Given the description of an element on the screen output the (x, y) to click on. 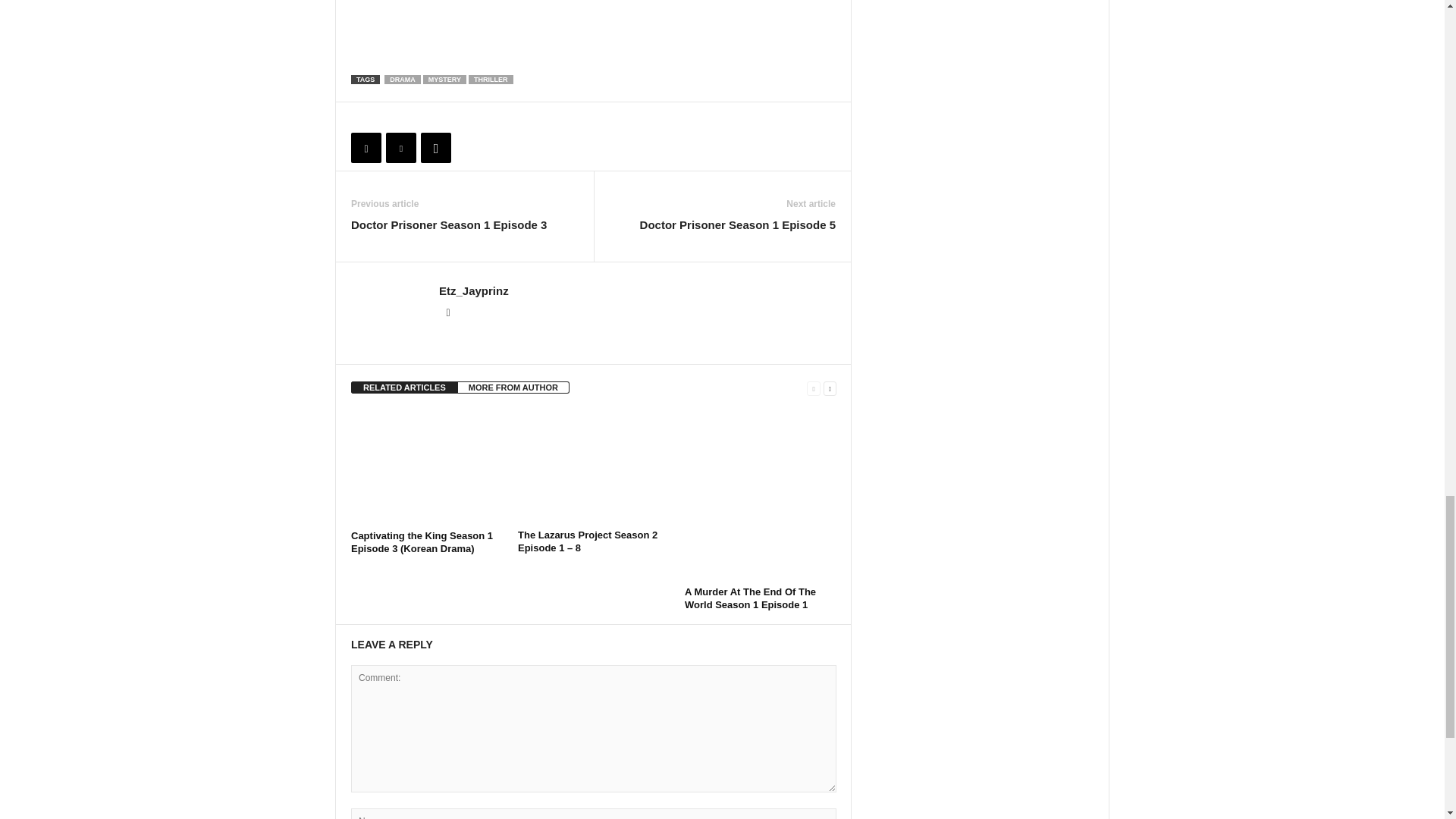
Linkedin (448, 312)
WhatsApp (435, 147)
Twitter (400, 147)
bottomFacebookLike (390, 117)
Facebook (365, 147)
